Given the description of an element on the screen output the (x, y) to click on. 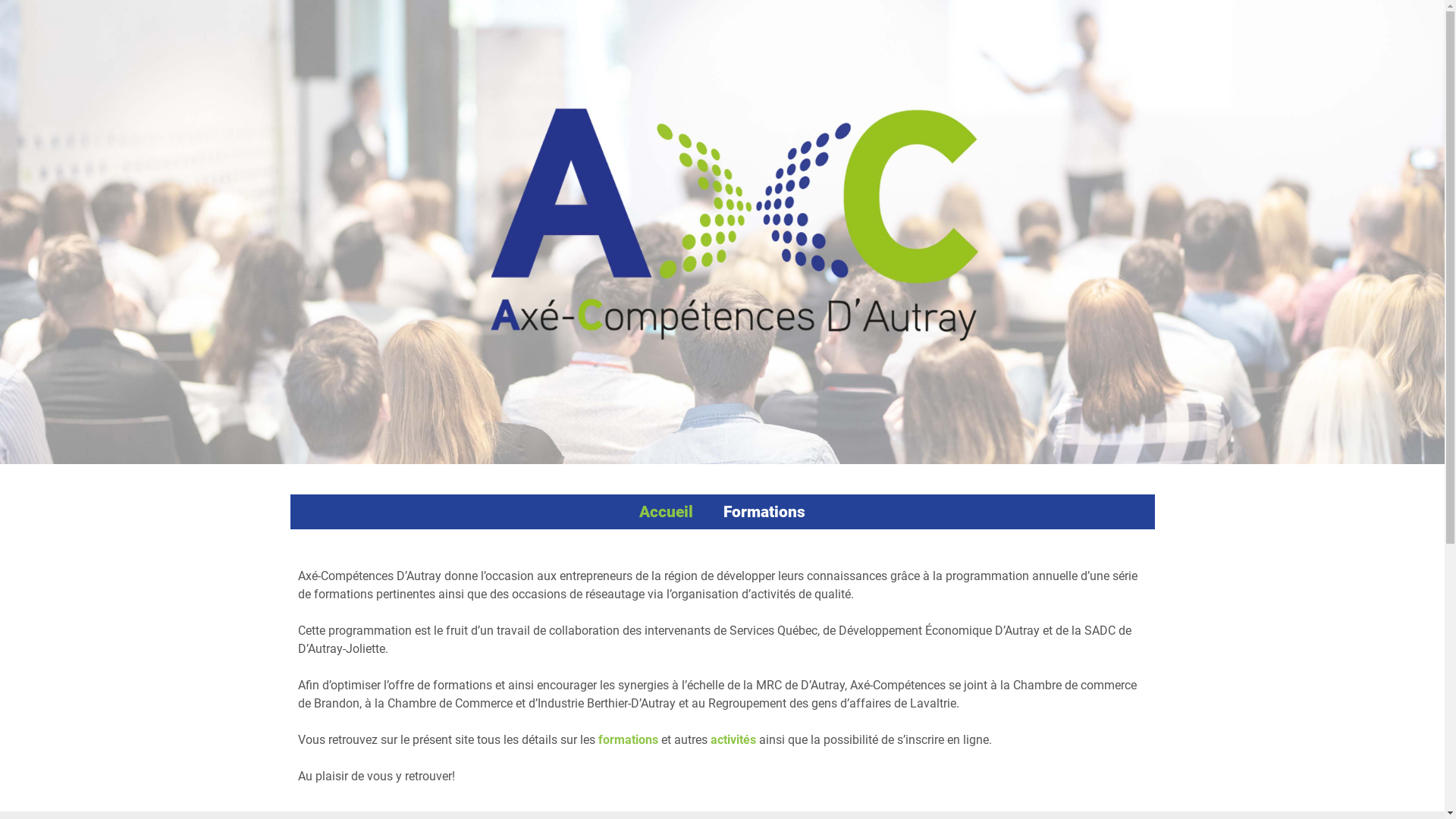
formations Element type: text (627, 739)
Formations Element type: text (764, 511)
Accueil Element type: text (666, 511)
